Given the description of an element on the screen output the (x, y) to click on. 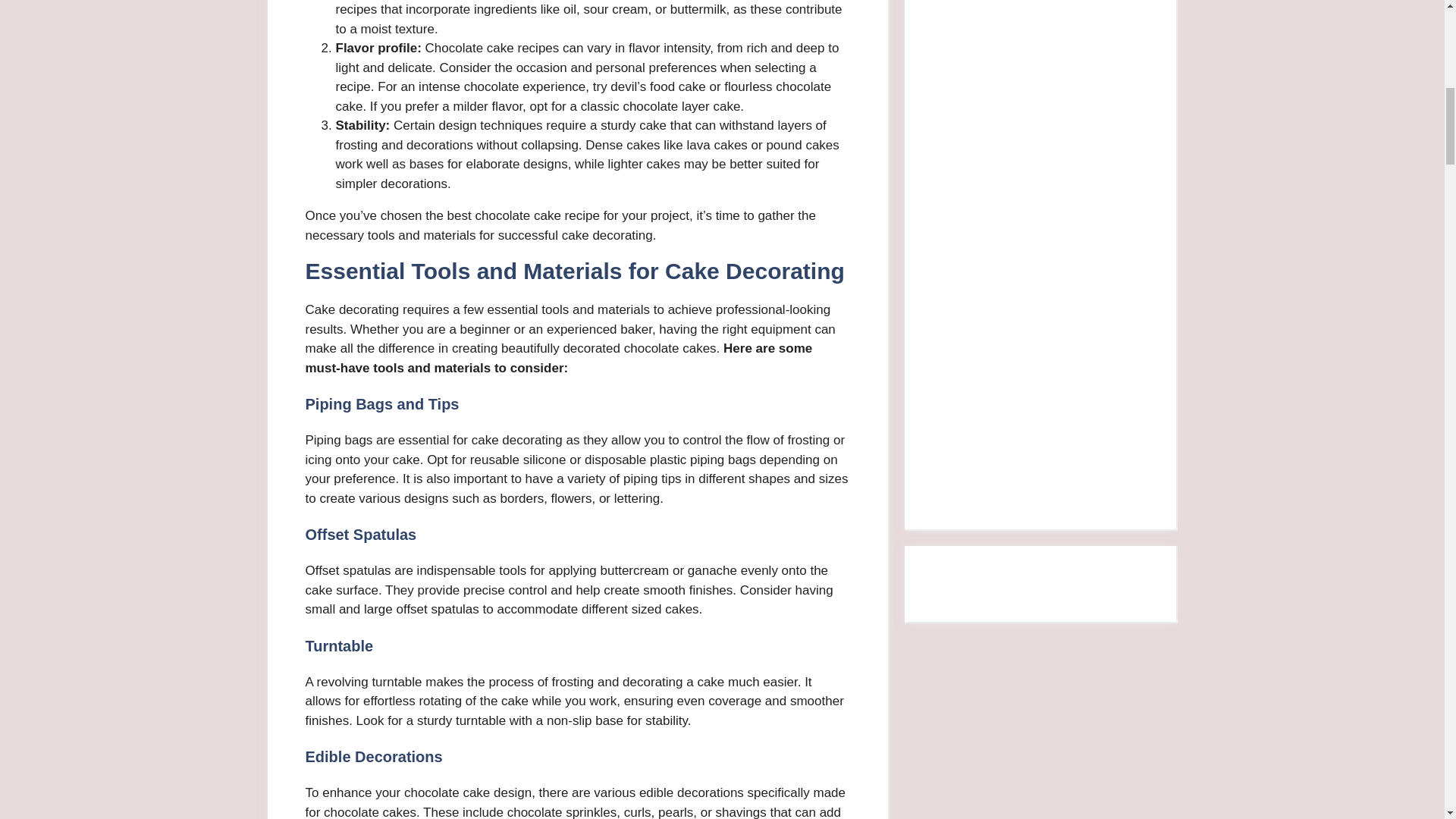
RSS (1055, 428)
Pinterest (1055, 302)
Email (1055, 53)
Facebook (1055, 176)
